Given the description of an element on the screen output the (x, y) to click on. 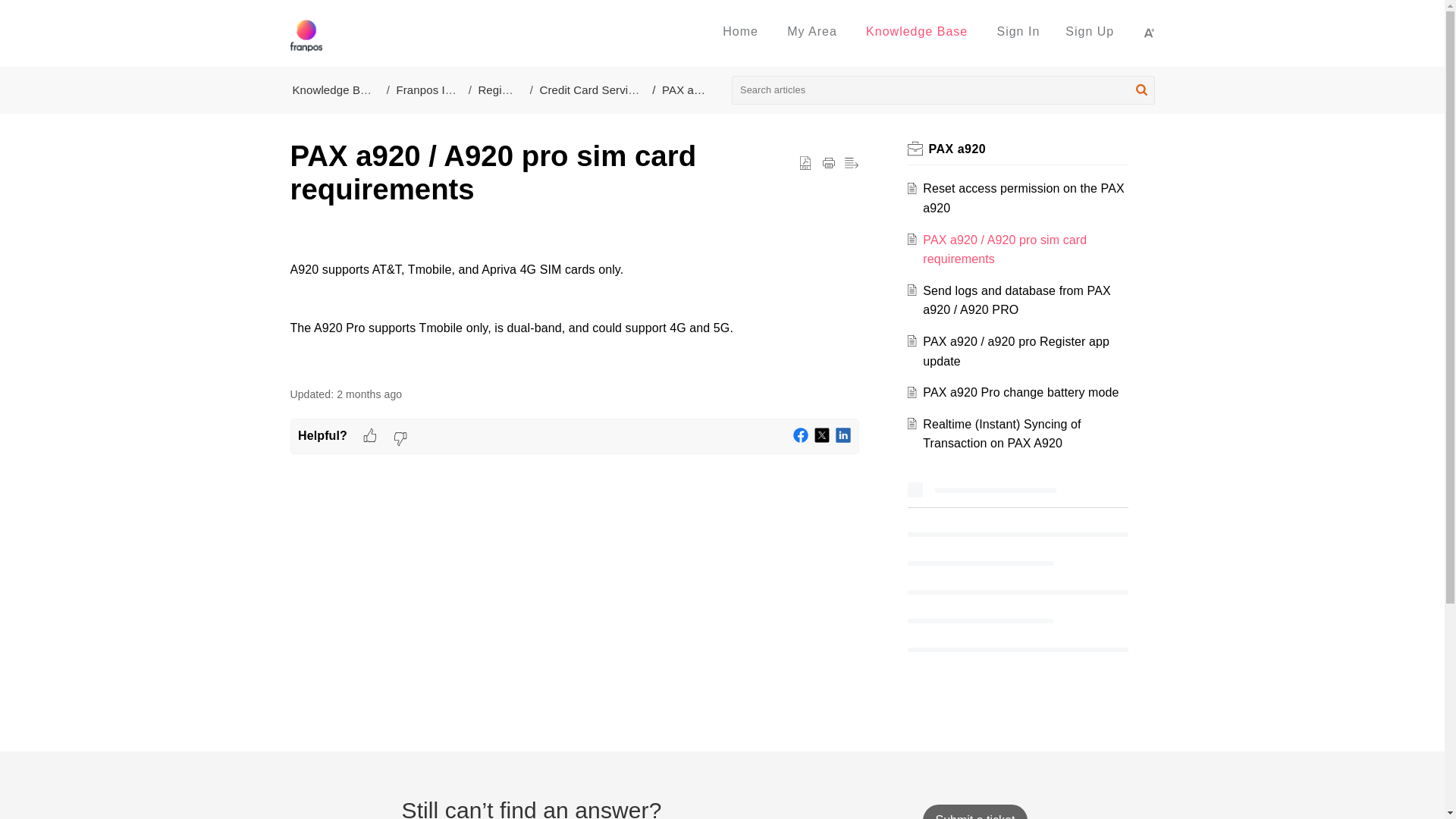
Knowledge Base (335, 89)
Submit a ticket (974, 811)
Home (740, 31)
My Area (812, 31)
Facebook (800, 435)
Reset access permission on the PAX a920 (1023, 197)
Sign In (1017, 31)
PAX a920 (956, 148)
Reset access permission on the PAX a920 (1023, 197)
LinkedIn (842, 435)
